Given the description of an element on the screen output the (x, y) to click on. 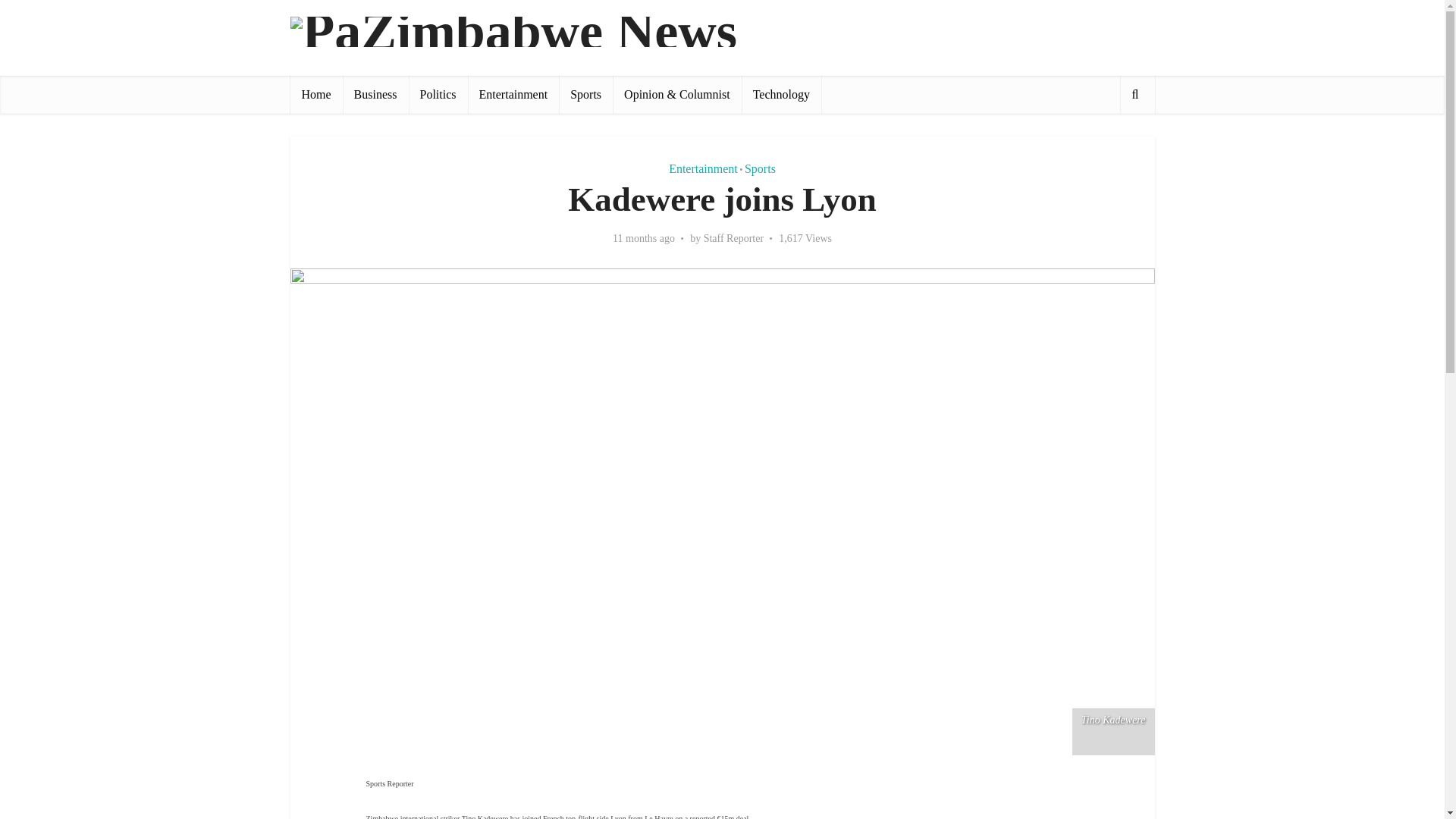
Entertainment (703, 168)
Business (375, 94)
Technology (781, 94)
Sports (585, 94)
Staff Reporter (732, 238)
Politics (438, 94)
Entertainment (513, 94)
Sports (760, 168)
Home (315, 94)
